Given the description of an element on the screen output the (x, y) to click on. 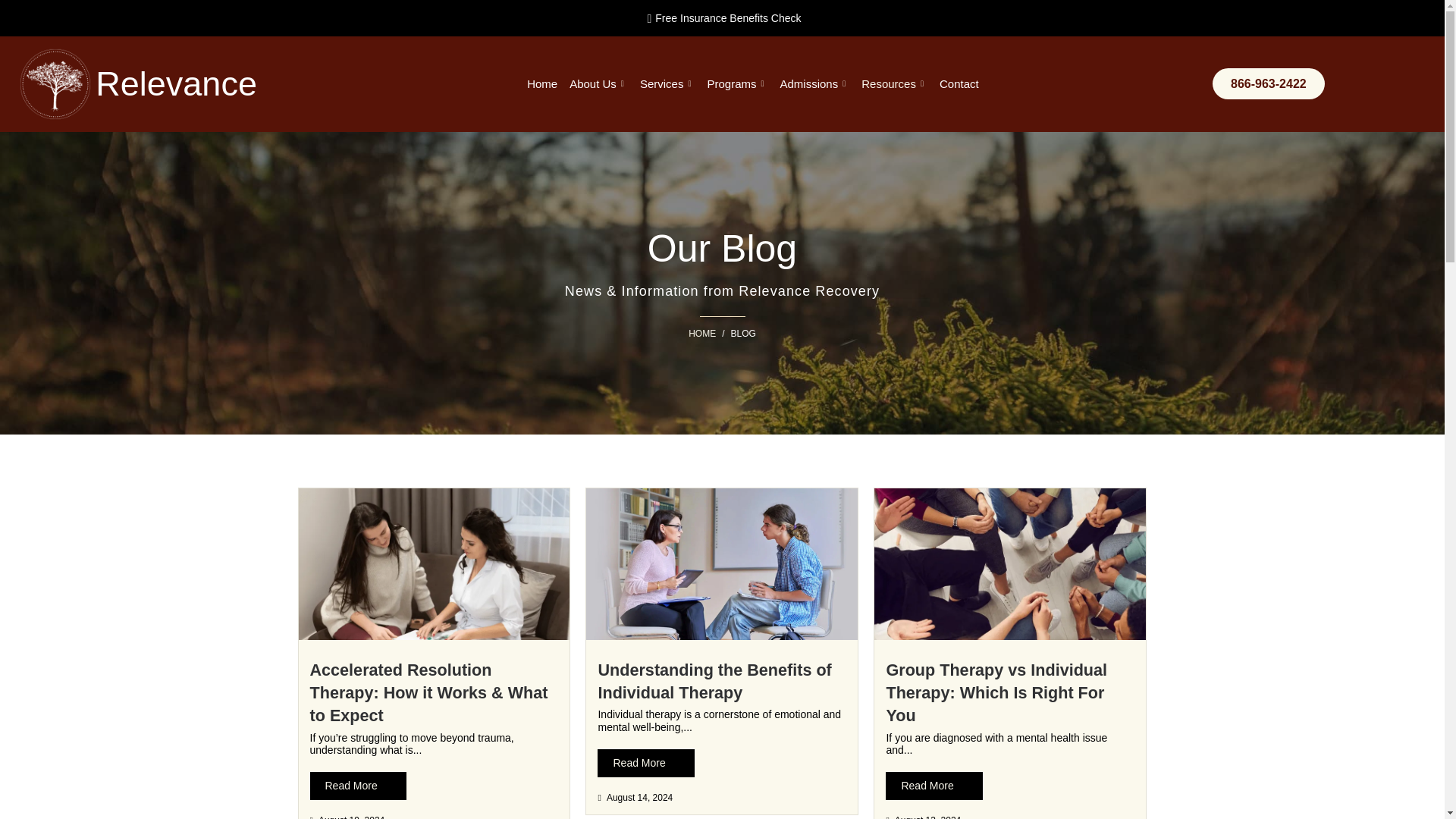
Services (667, 84)
Free Insurance Benefits Check (721, 17)
Understanding the Benefits of Individual Therapy (713, 680)
About Us (598, 84)
Group Therapy vs Individual Therapy: Which Is Right For You (995, 692)
Relevance (176, 83)
